Given the description of an element on the screen output the (x, y) to click on. 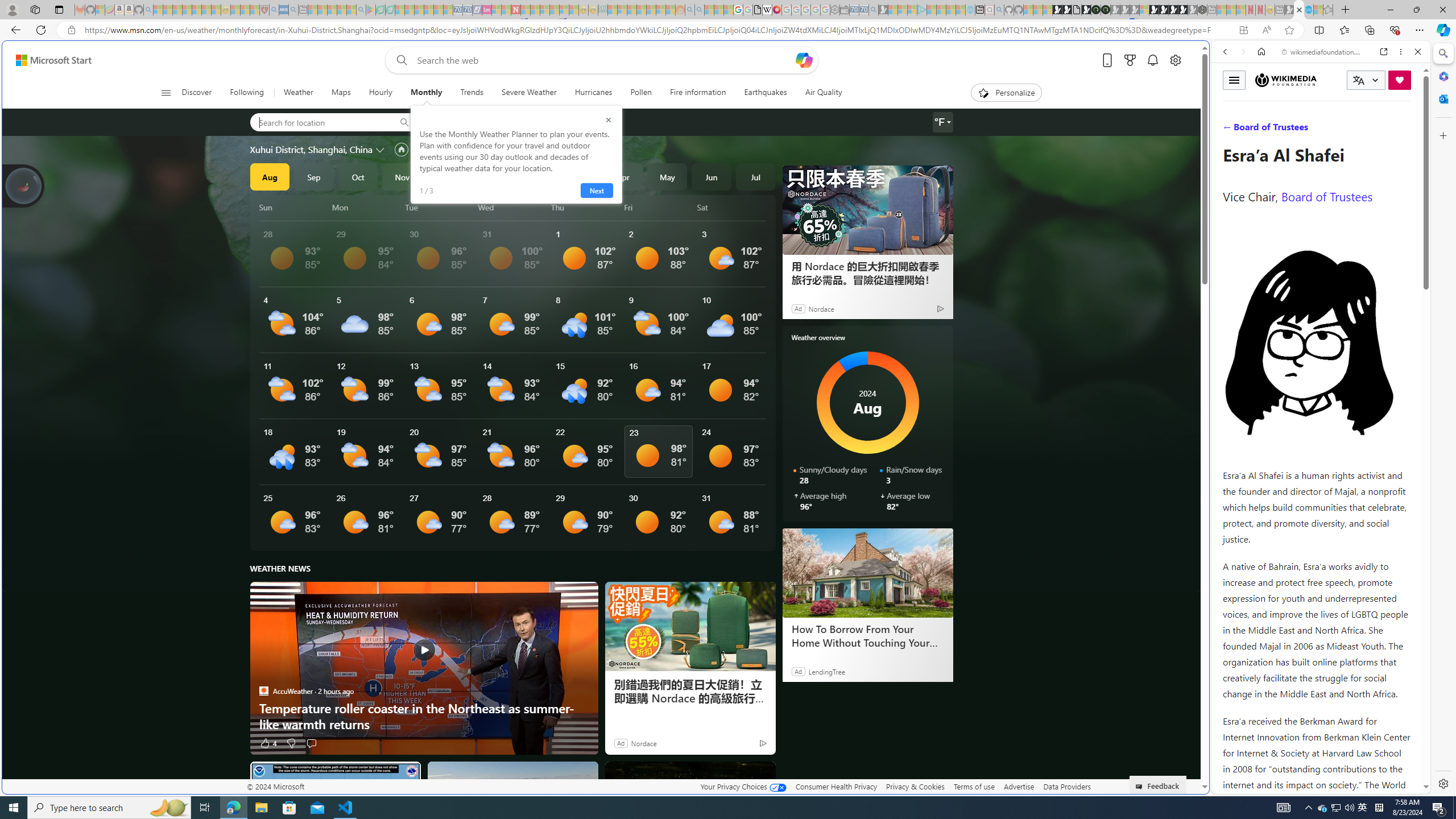
Mon (366, 207)
Fire information (697, 92)
Wiktionary (1315, 380)
Target page - Wikipedia (767, 9)
CURRENT LANGUAGE: (1366, 80)
Donate now (1399, 80)
